Given the description of an element on the screen output the (x, y) to click on. 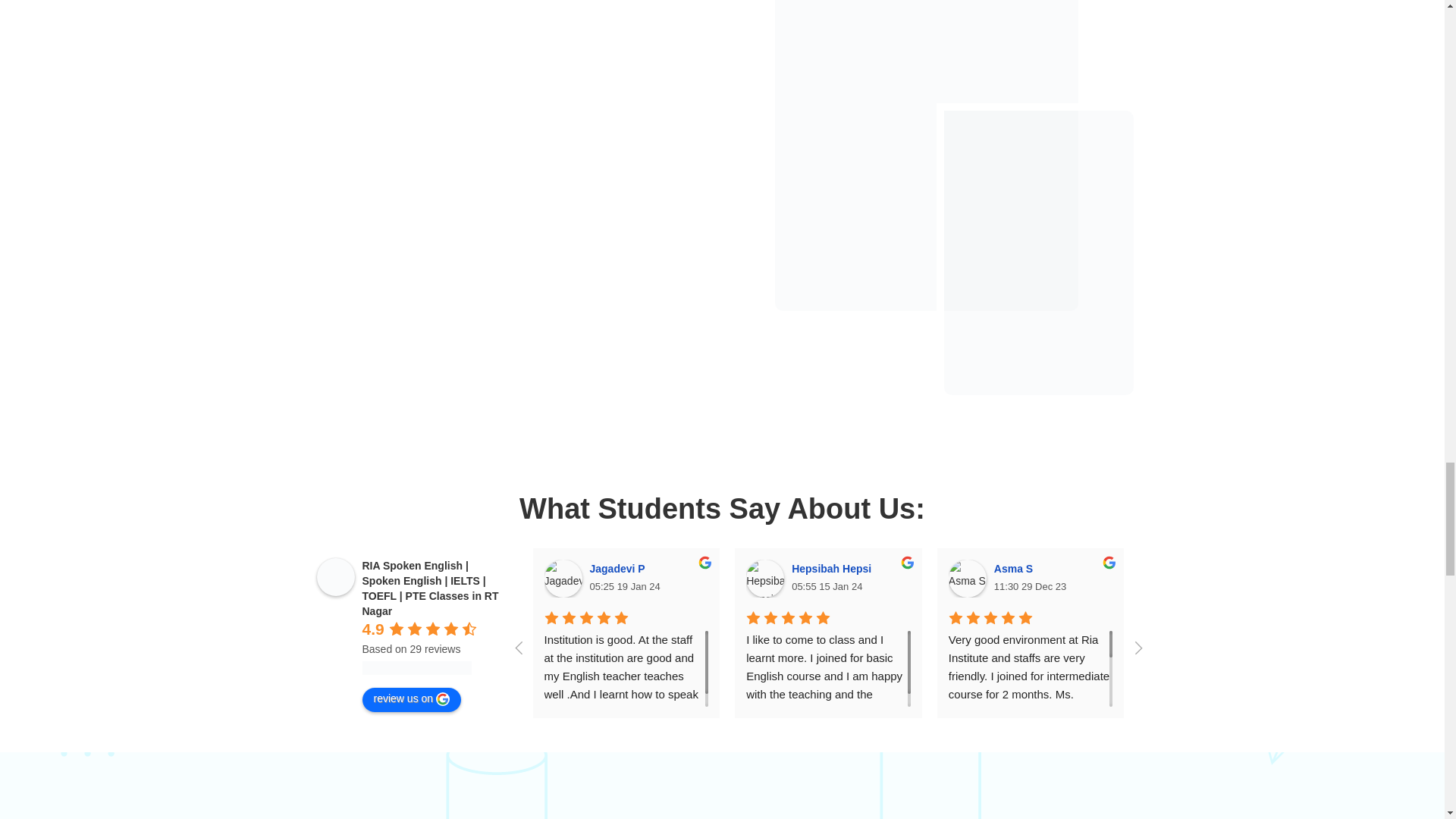
Asma S (1015, 568)
Asma S (968, 578)
Hema Pothagani (1371, 578)
Jagadevi P (619, 568)
powered by Google (416, 667)
review us on (411, 699)
Priyanka Mavinkar (1169, 578)
Hepsibah Hepsi (834, 568)
Hepsibah Hepsi (764, 578)
Priyanka Mavinkar (1244, 568)
